Given the description of an element on the screen output the (x, y) to click on. 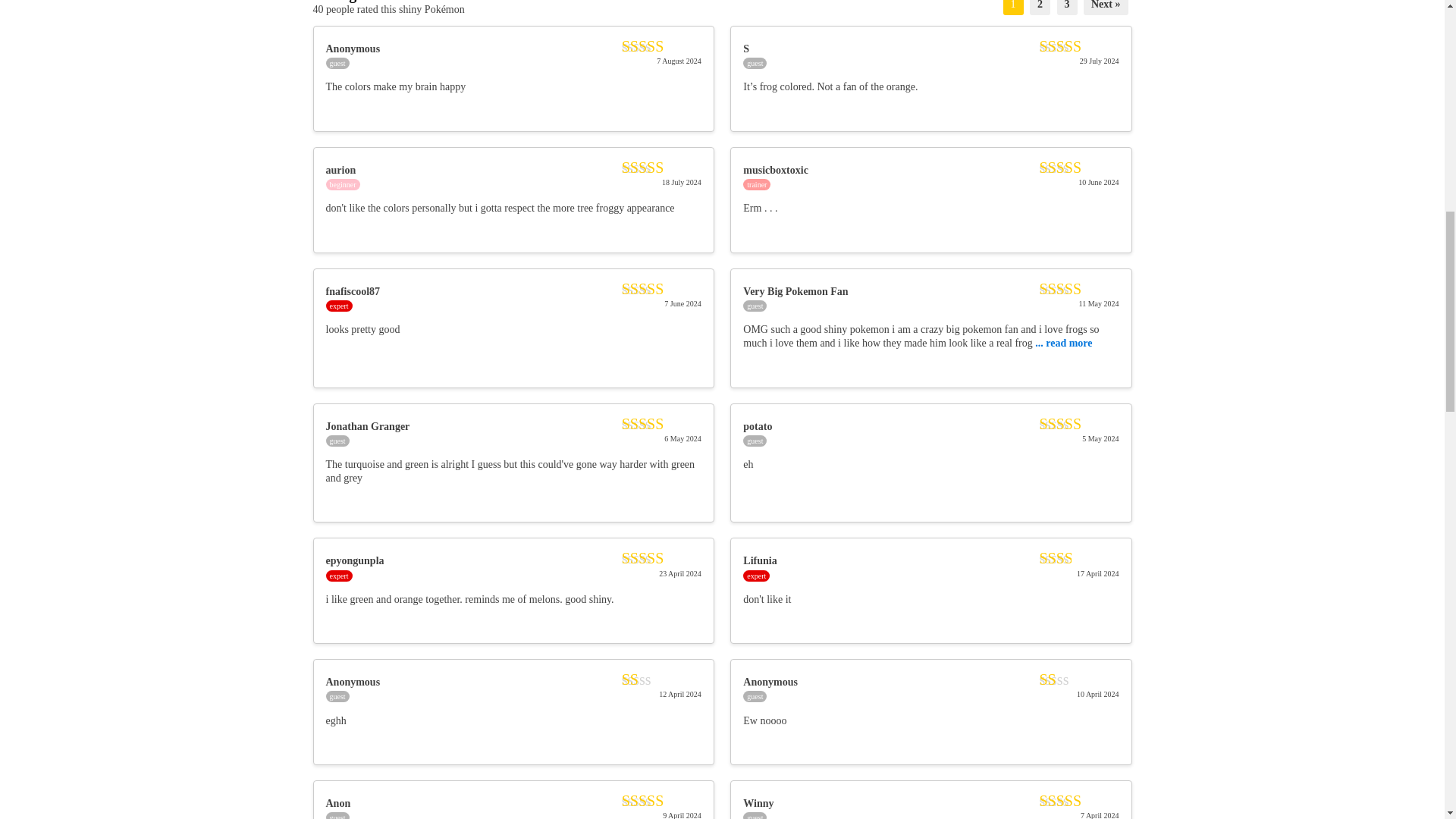
91 ratings (756, 184)
1 ratings (342, 184)
1452 ratings (339, 575)
230 ratings (339, 306)
